Given the description of an element on the screen output the (x, y) to click on. 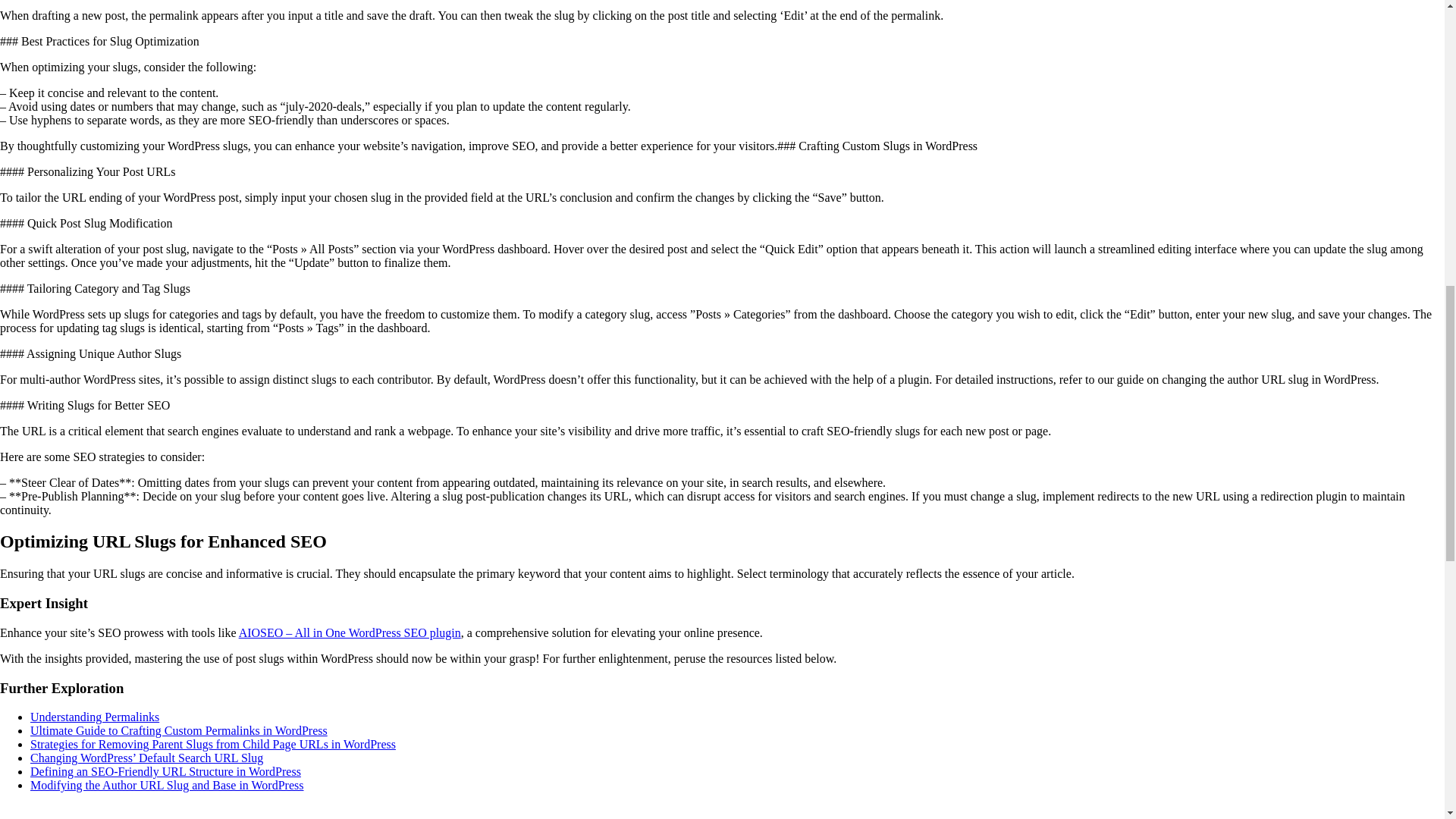
Understanding Permalinks (94, 716)
Modifying the Author URL Slug and Base in WordPress (166, 784)
AIOSEO - All in One WordPress SEO plugin (349, 632)
